Given the description of an element on the screen output the (x, y) to click on. 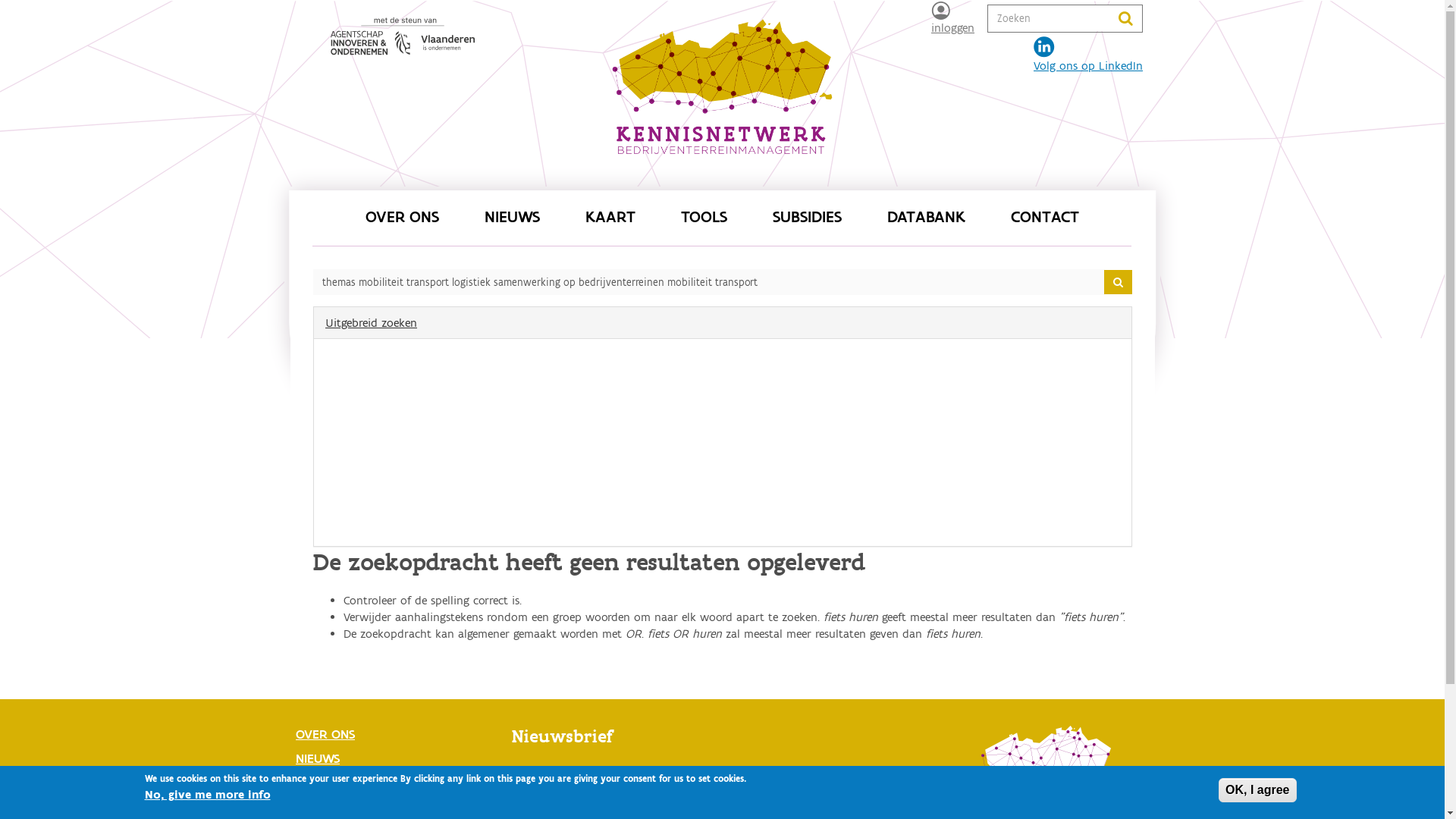
CONTACT Element type: text (1044, 217)
TOOLS Element type: text (397, 806)
TOOLS Element type: text (703, 217)
OVER ONS Element type: text (397, 733)
Uitgebreid zoeken Element type: text (375, 522)
Verbergen
Uitgebreid zoeken Element type: text (722, 322)
DATABANK Element type: text (926, 217)
NIEUWS Element type: text (397, 757)
Overslaan en naar de inhoud gaan Element type: text (0, 0)
NIEUWS Element type: text (511, 217)
KAART Element type: text (610, 217)
Zoeken Element type: text (1151, 22)
Home Element type: hover (721, 92)
inloggen Element type: text (952, 18)
Zoeken Element type: text (322, 299)
OVER ONS Element type: text (402, 217)
Volg ons op LinkedIn Element type: text (1087, 55)
Geef de woorden op waarnaar u wilt zoeken. Element type: hover (1049, 18)
KAART Element type: text (397, 782)
Home Element type: hover (1046, 765)
No, give me more info Element type: text (206, 794)
OK, I agree Element type: text (1256, 790)
SUBSIDIES Element type: text (805, 217)
